Given the description of an element on the screen output the (x, y) to click on. 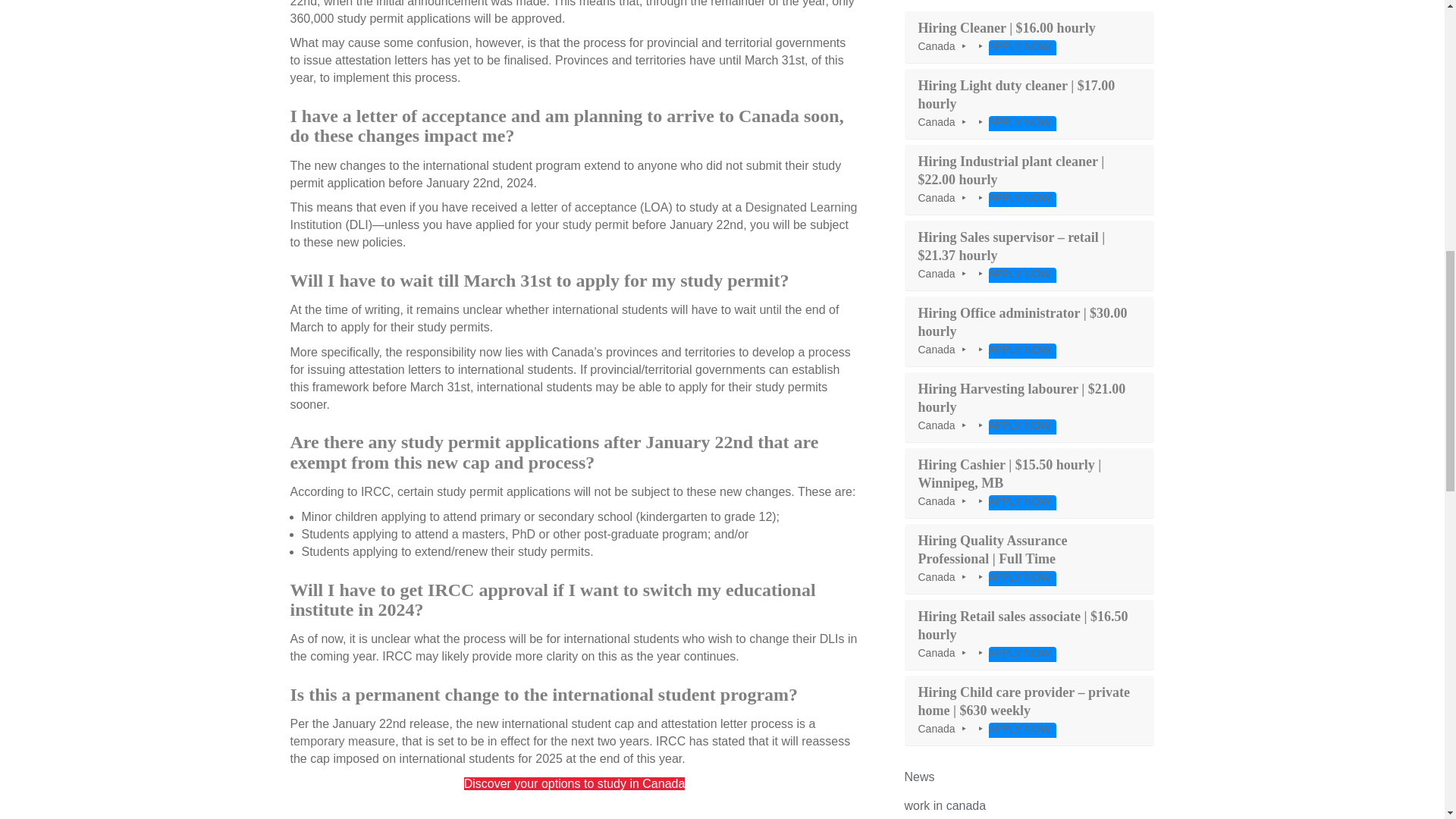
Designated Learning Institution (573, 215)
temporary measure (341, 740)
letter of acceptance (584, 206)
study permit (595, 224)
Discover your options to study in Canada (574, 783)
